Given the description of an element on the screen output the (x, y) to click on. 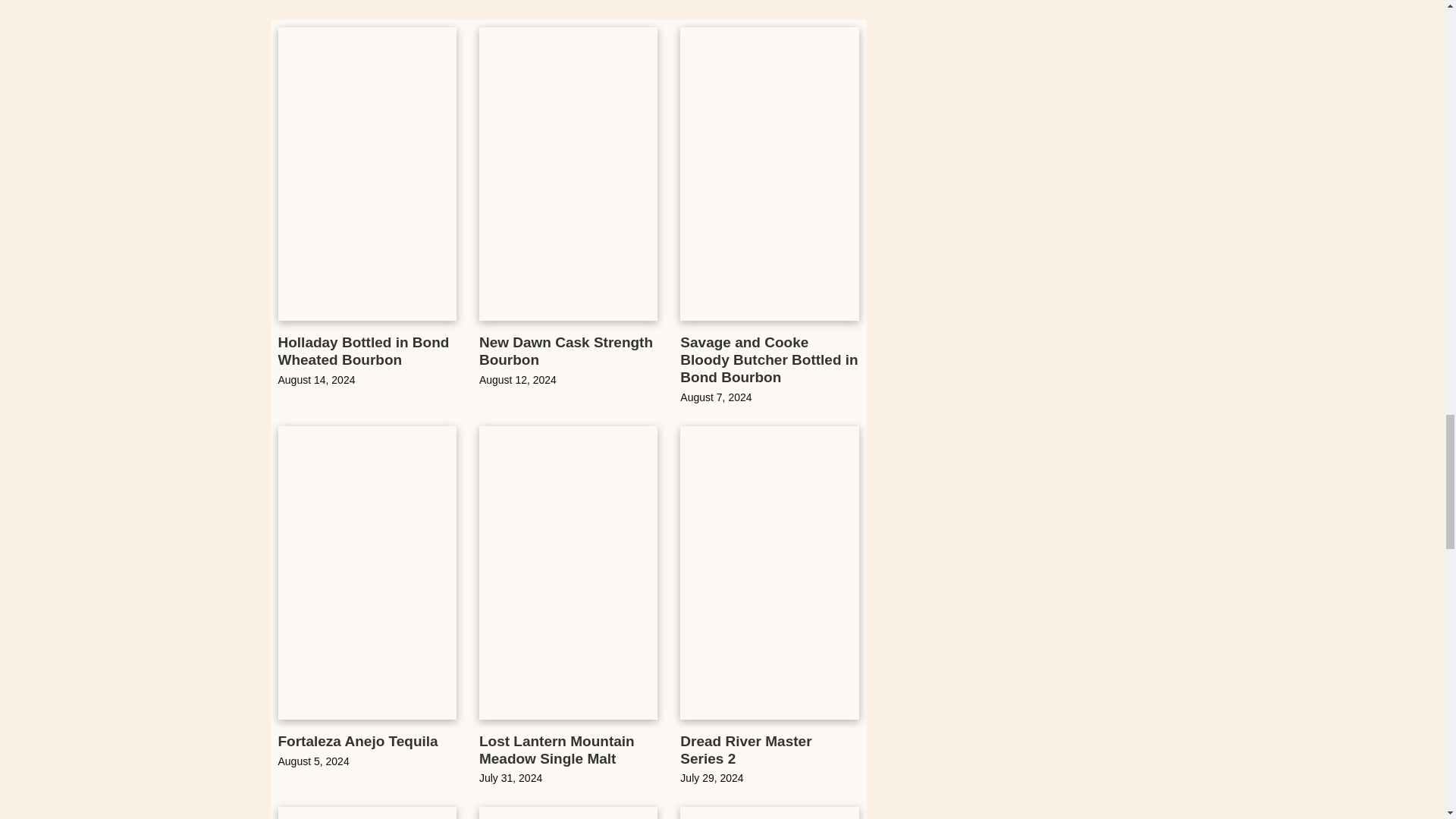
Holladay Bottled in Bond Wheated Bourbon (363, 350)
Savage and Cooke Bloody Butcher Bottled in Bond Bourbon (768, 359)
Fortaleza Anejo Tequila (358, 741)
New Dawn Cask Strength Bourbon (565, 350)
